Given the description of an element on the screen output the (x, y) to click on. 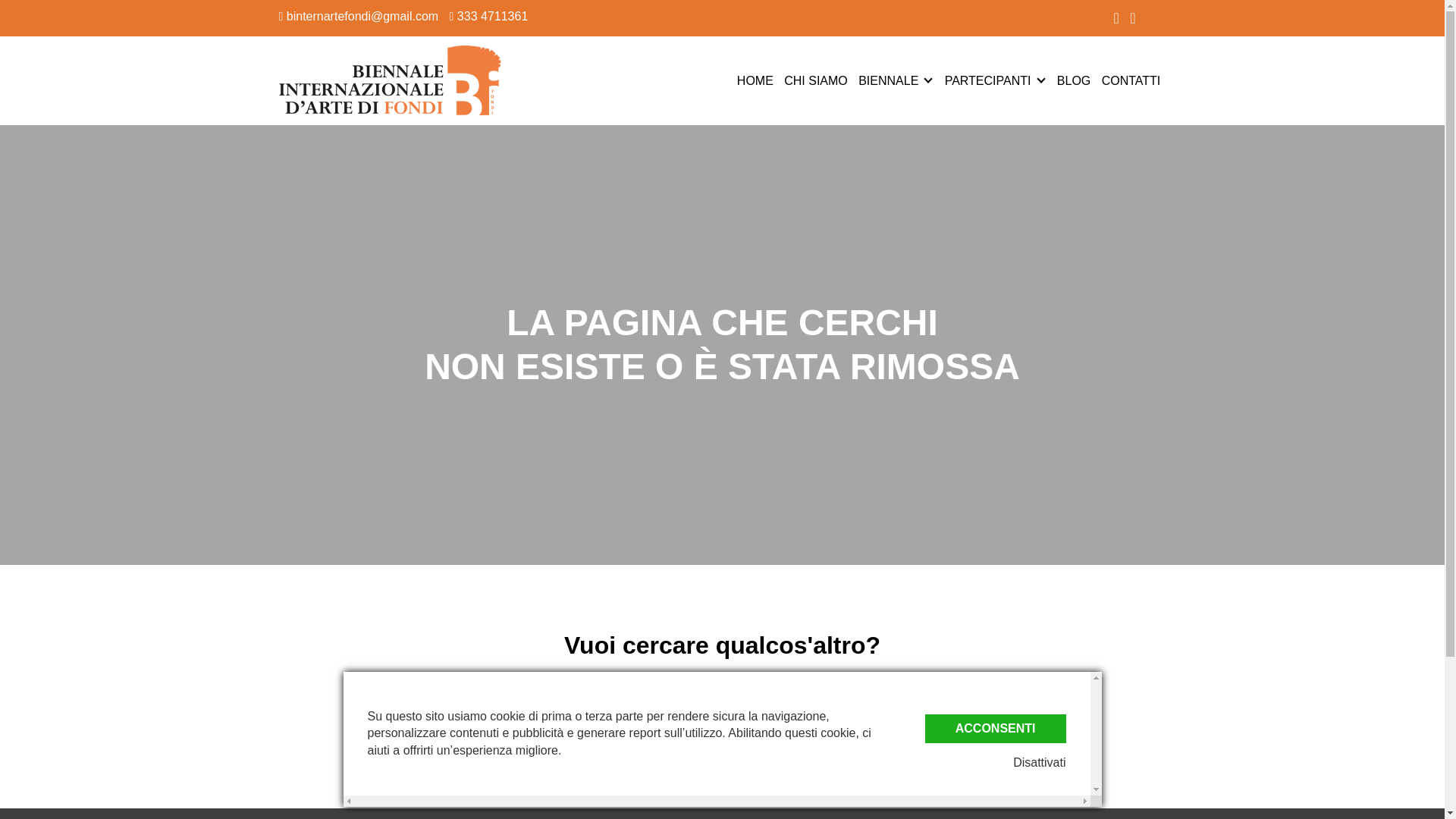
Email (359, 15)
BIENNALE (888, 80)
333 4711361 (488, 15)
Cerca (721, 748)
BLOG (1073, 80)
Cerca (721, 748)
CHI SIAMO (815, 80)
HOME (755, 80)
Chiamaci (488, 15)
PARTECIPANTI (987, 80)
